Given the description of an element on the screen output the (x, y) to click on. 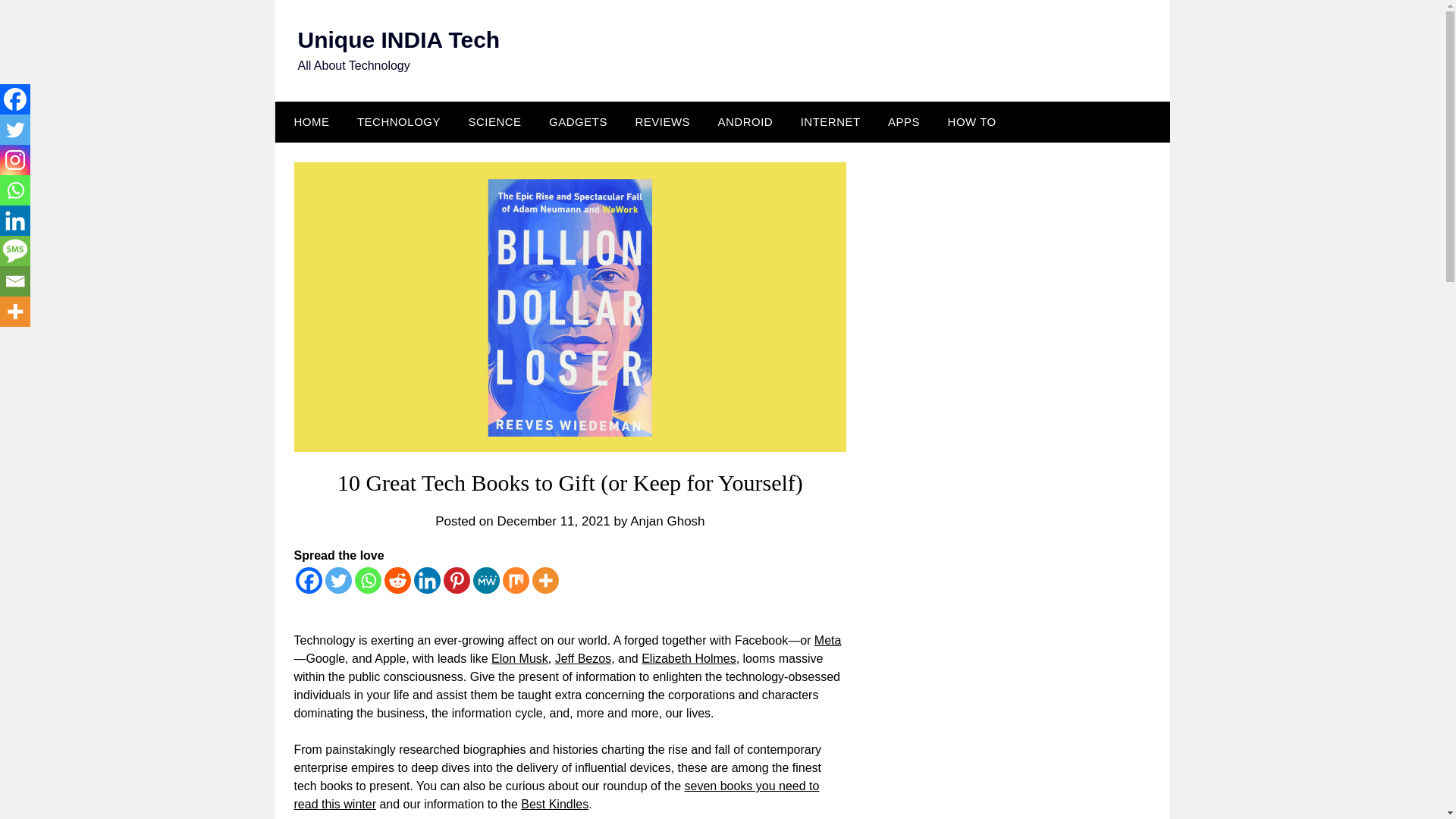
APPS (903, 121)
HOME (307, 121)
SCIENCE (493, 121)
Meta (827, 640)
TECHNOLOGY (398, 121)
Mix (515, 580)
INTERNET (830, 121)
ANDROID (746, 121)
Pinterest (455, 580)
Anjan Ghosh (667, 521)
